Given the description of an element on the screen output the (x, y) to click on. 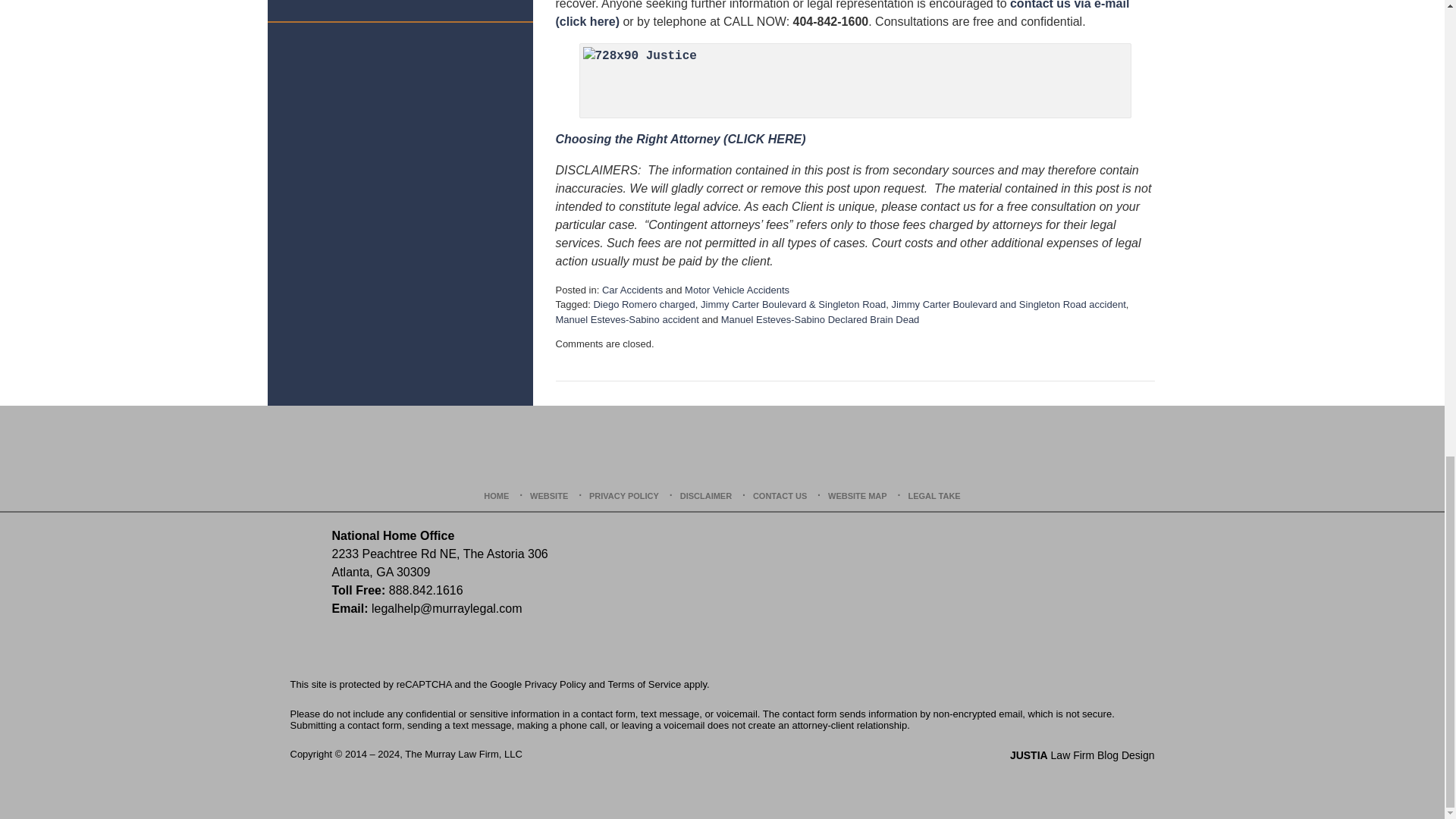
View all posts in Car Accidents (632, 289)
View all posts tagged with Diego Romero charged (643, 304)
Car Accidents (632, 289)
Manuel Esteves-Sabino Declared Brain Dead (820, 319)
Diego Romero charged (643, 304)
View all posts in Motor Vehicle Accidents (736, 289)
View all posts tagged with Manuel Esteves-Sabino accident (626, 319)
Motor Vehicle Accidents (736, 289)
National Home Office (392, 535)
Manuel Esteves-Sabino accident (626, 319)
Jimmy Carter Boulevard and Singleton Road accident (1008, 304)
